Given the description of an element on the screen output the (x, y) to click on. 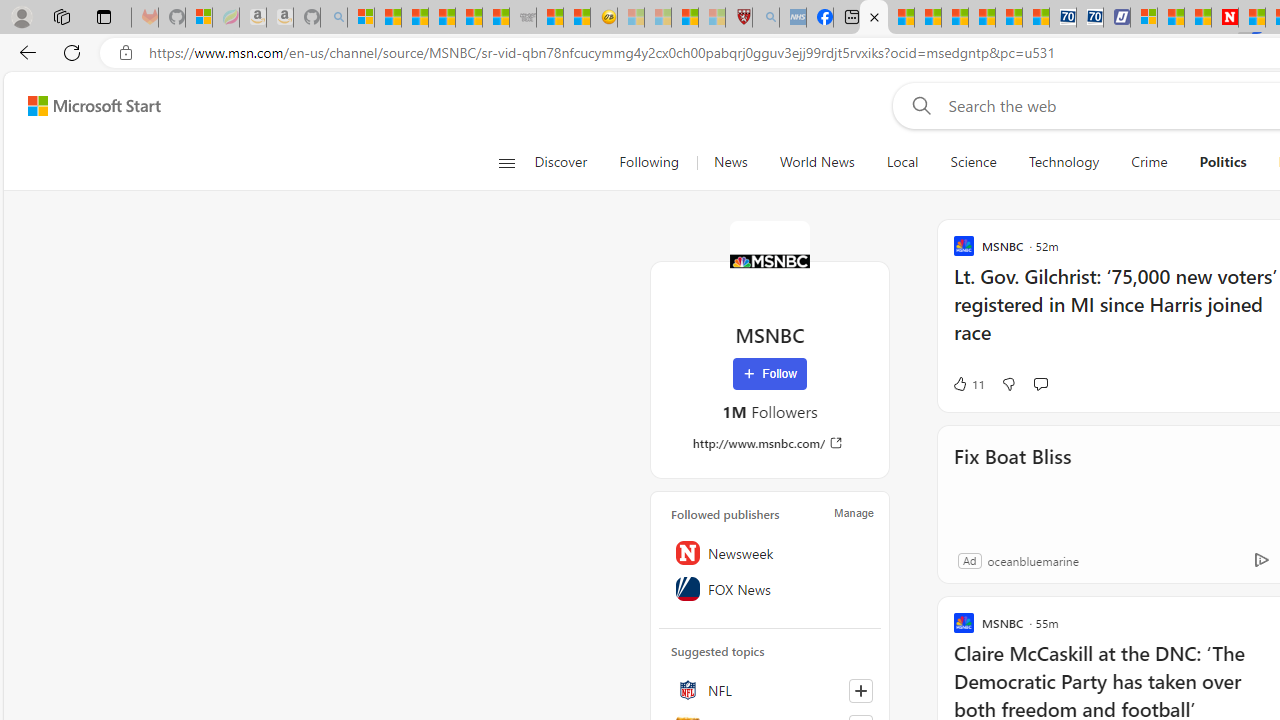
12 Popular Science Lies that Must be Corrected - Sleeping (711, 17)
MSNBC (769, 260)
NFL (770, 690)
